Given the description of an element on the screen output the (x, y) to click on. 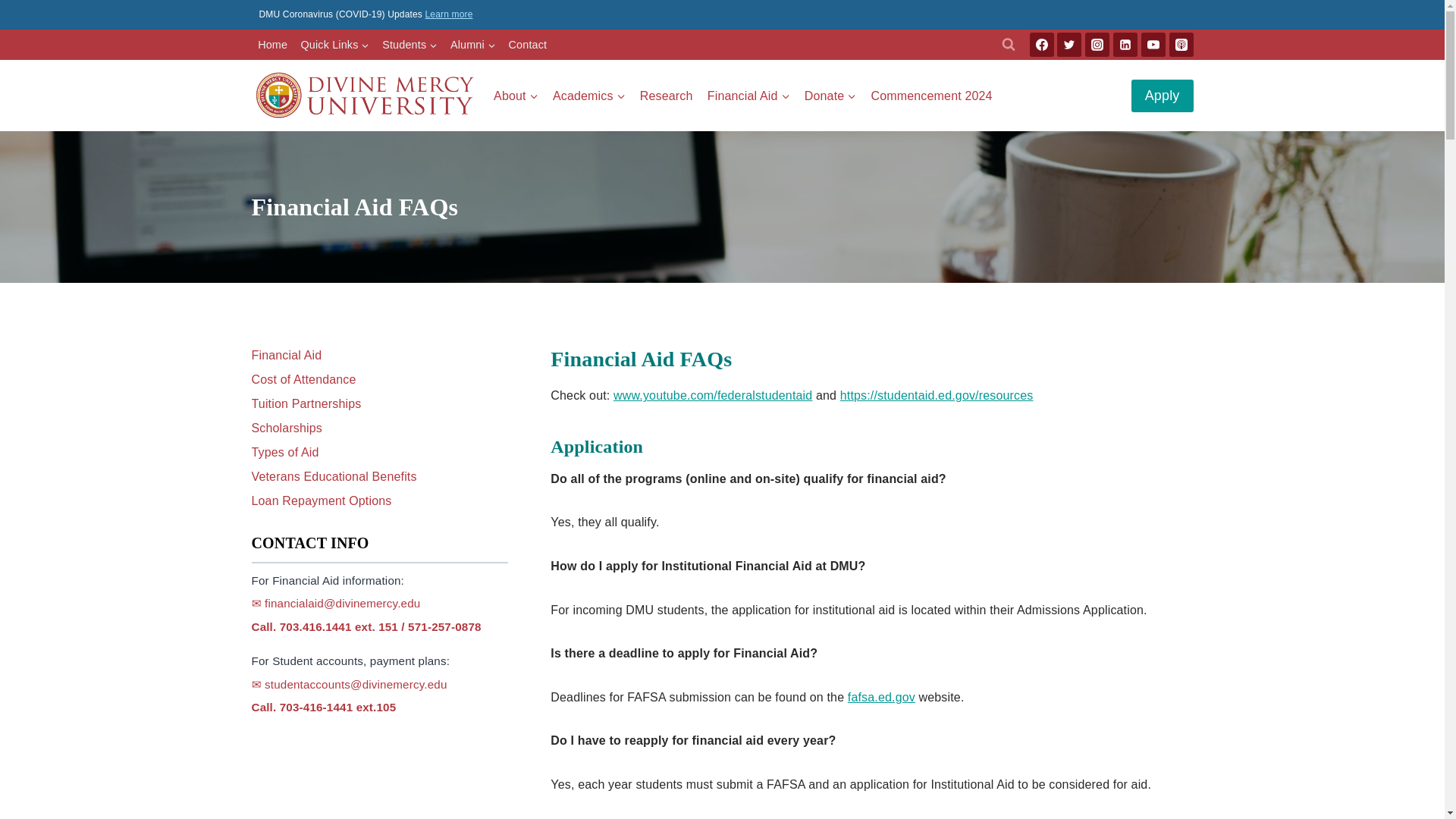
Home (272, 44)
Quick Links (334, 44)
Alumni (473, 44)
Students (409, 44)
About (516, 95)
Contact (527, 44)
Learn more (448, 14)
